Given the description of an element on the screen output the (x, y) to click on. 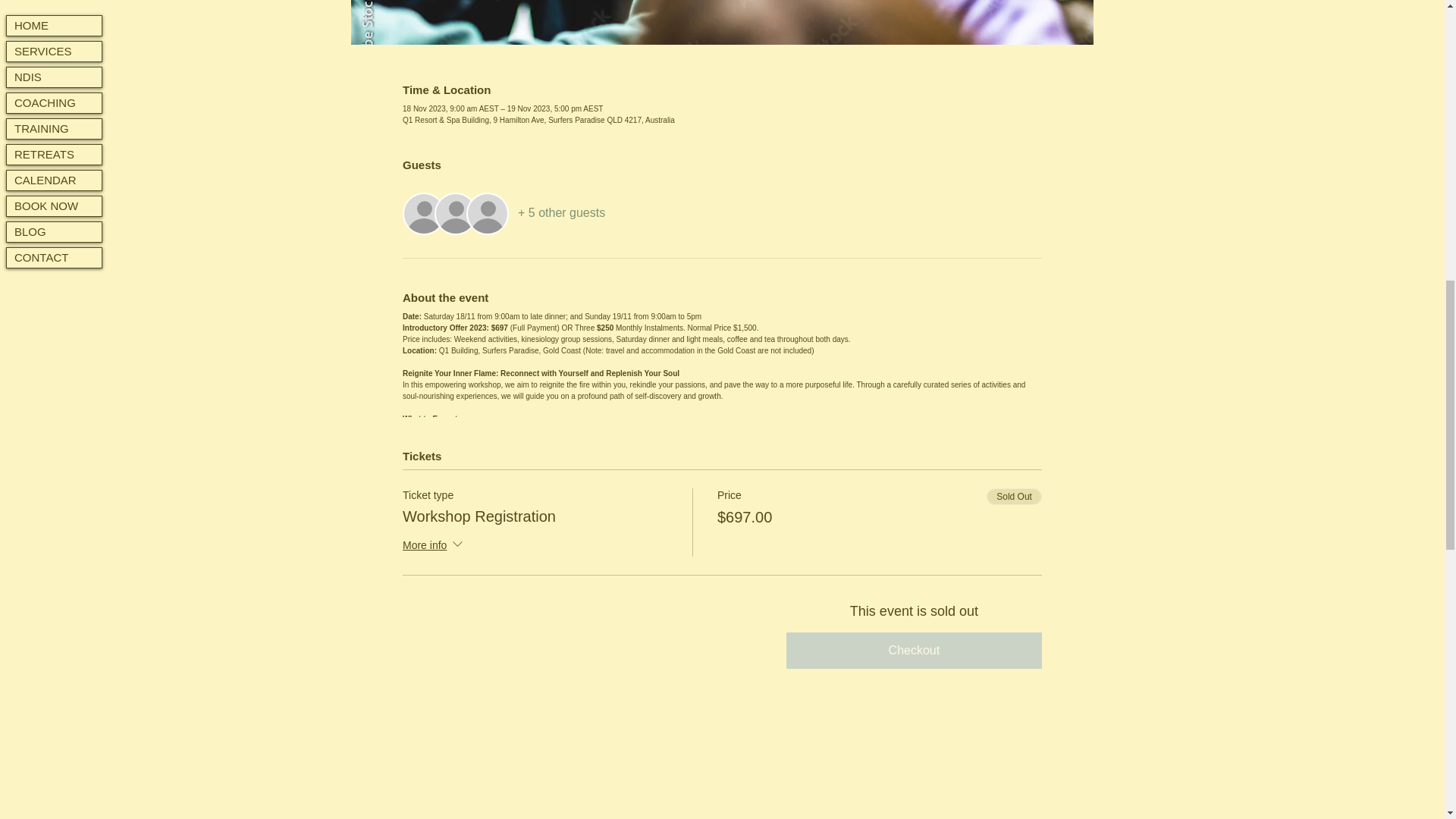
More info (434, 546)
Checkout (914, 650)
